Given the description of an element on the screen output the (x, y) to click on. 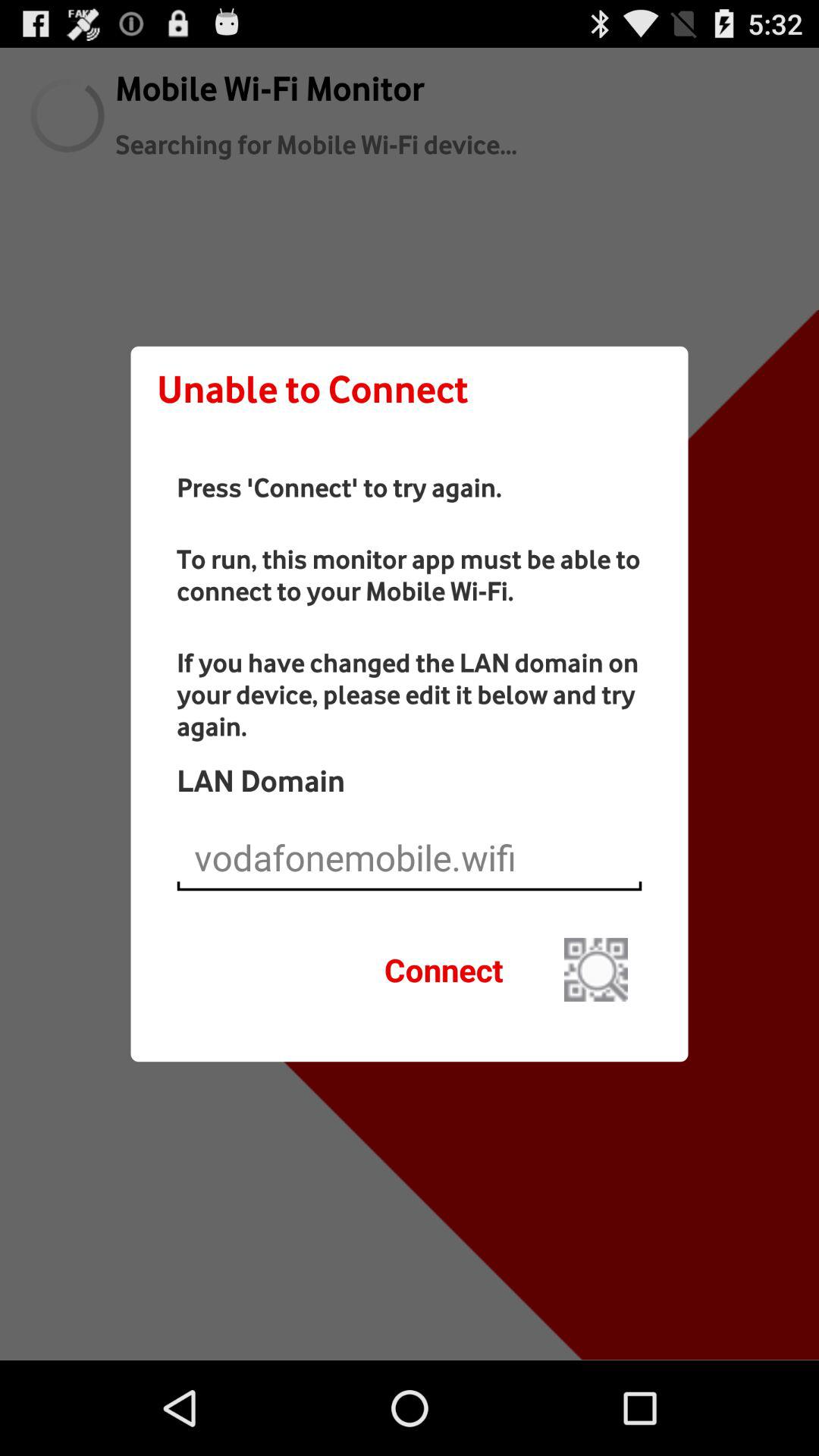
type domain (409, 858)
